Given the description of an element on the screen output the (x, y) to click on. 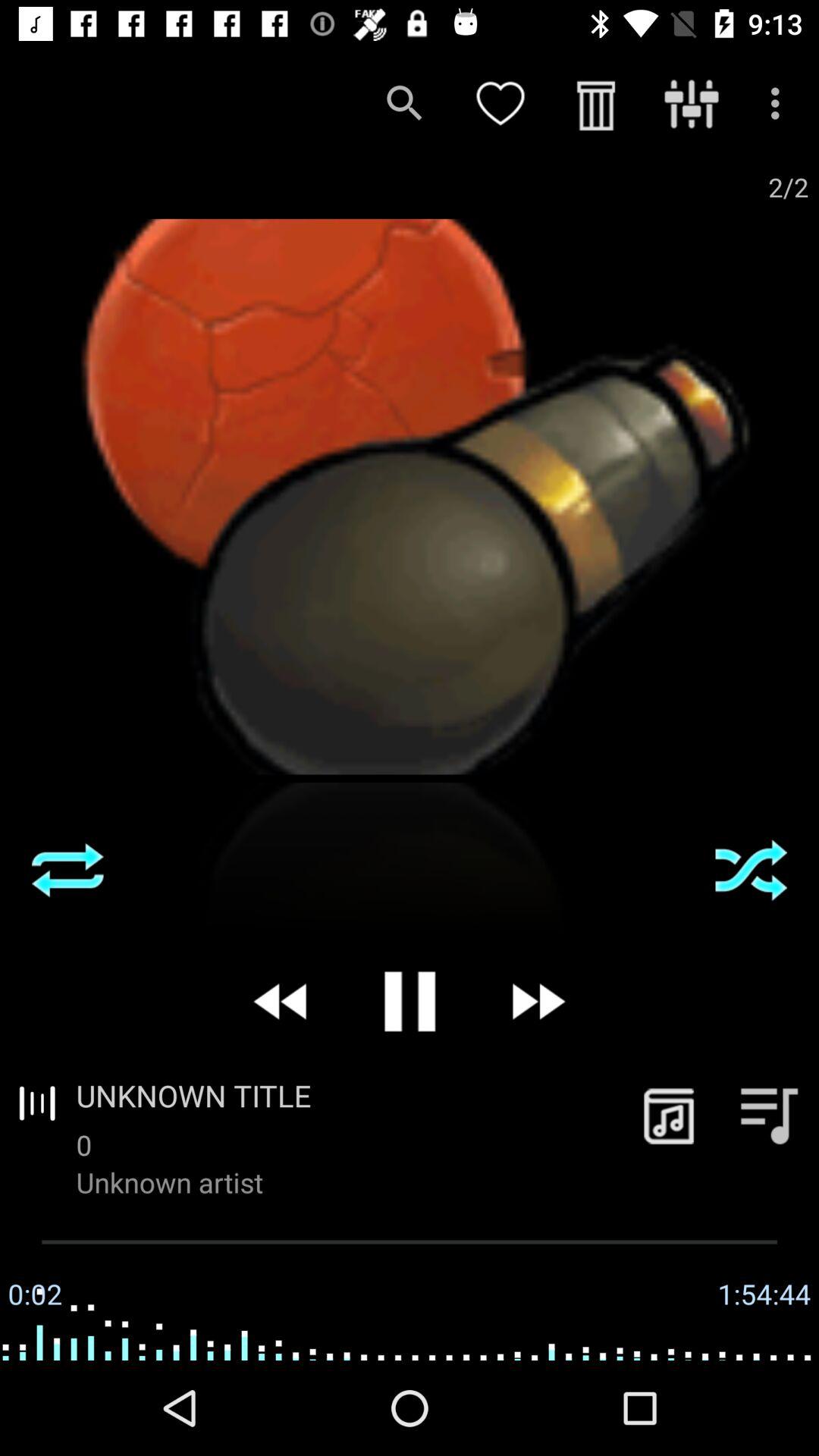
click on music settings (768, 1115)
